Given the description of an element on the screen output the (x, y) to click on. 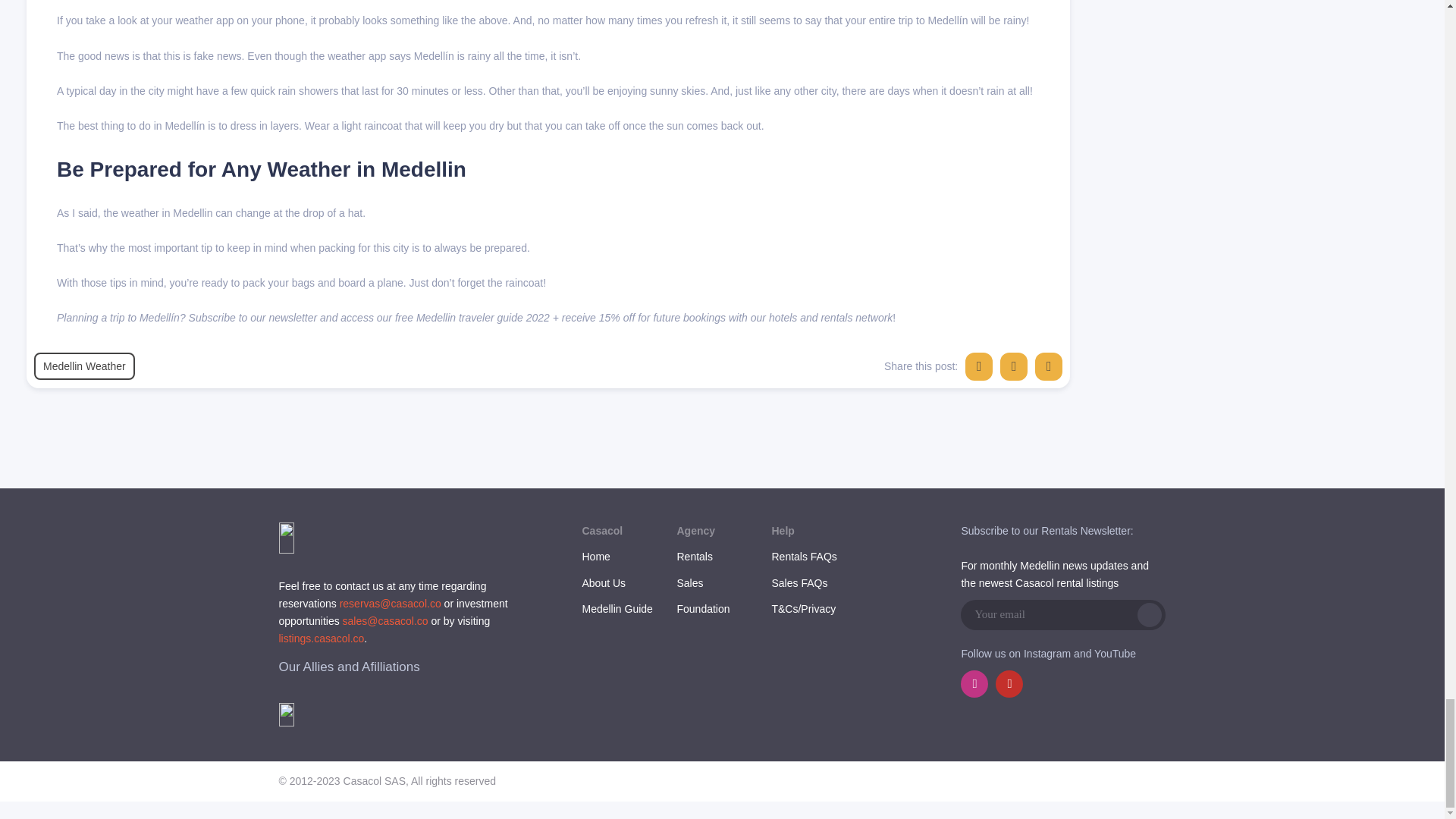
Your email (1047, 614)
Share to Twitter (1013, 366)
Share to Facebook (978, 366)
Subscribe (1149, 614)
Share to Linkedin (1048, 366)
